Given the description of an element on the screen output the (x, y) to click on. 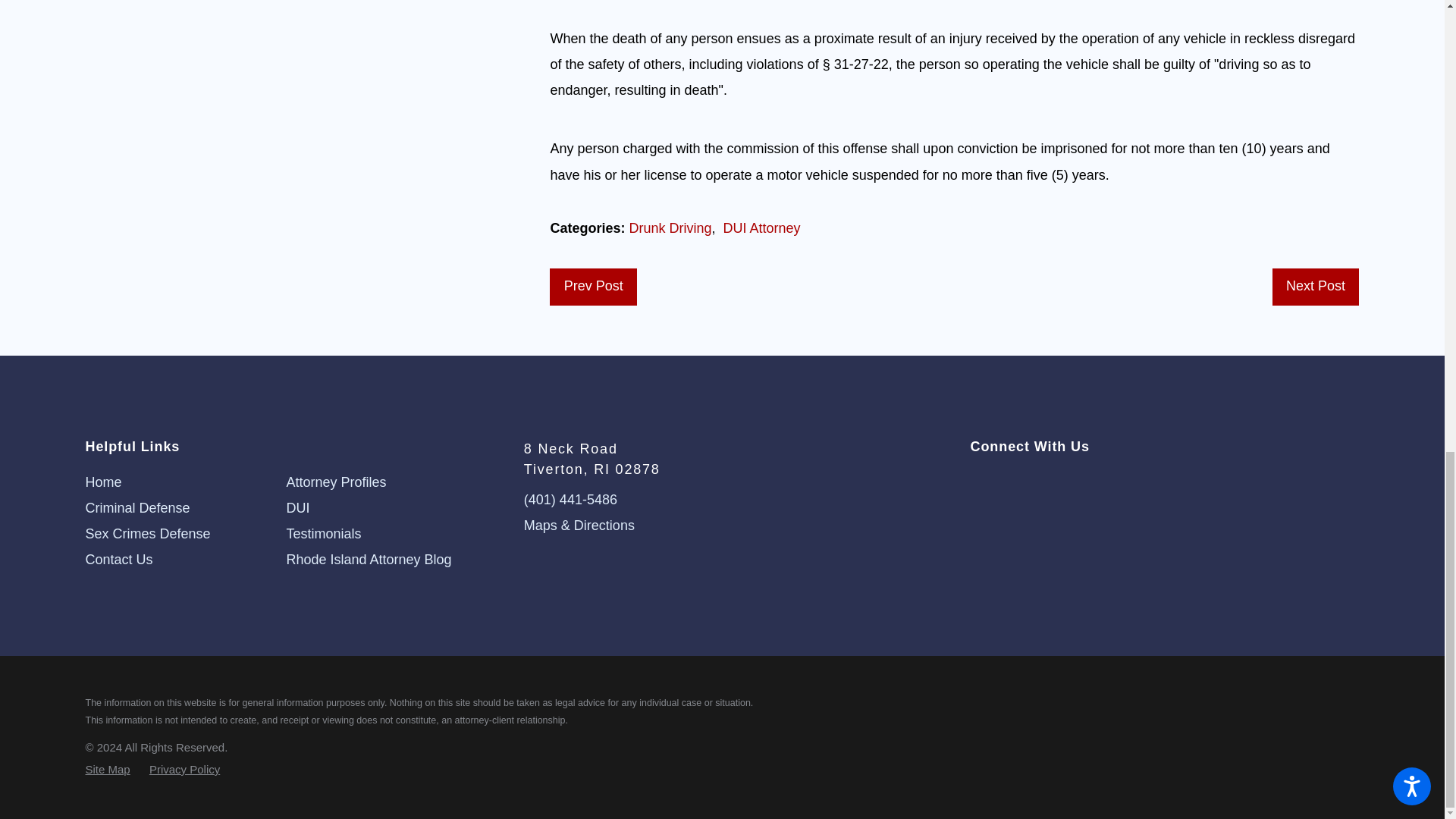
LinkedIn (1033, 483)
Twitter (977, 483)
Avvo (1086, 483)
Google Business Profile (1059, 483)
Facebook (1005, 483)
